Given the description of an element on the screen output the (x, y) to click on. 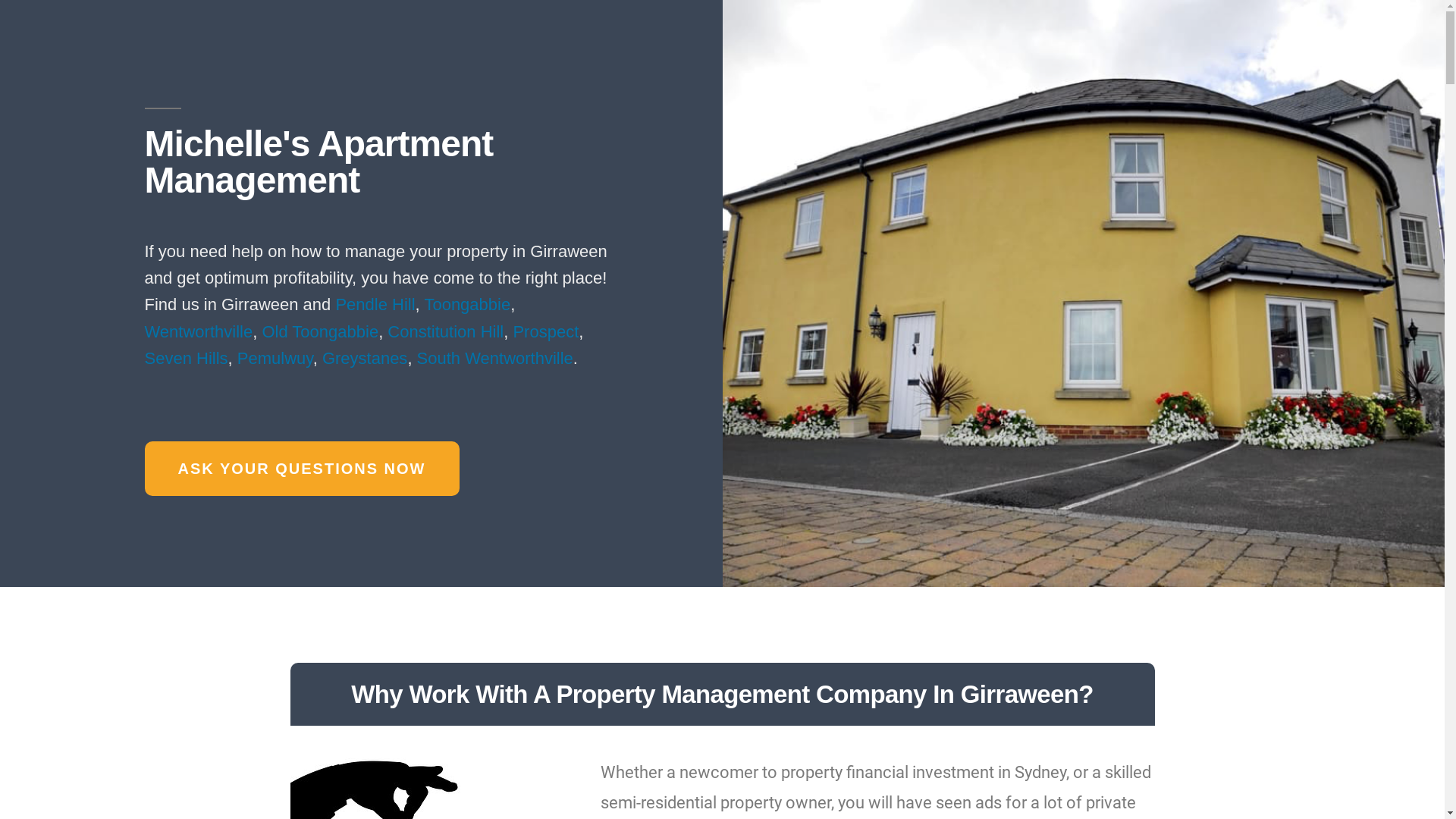
Wentworthville Element type: text (198, 331)
ASK YOUR QUESTIONS NOW Element type: text (301, 468)
Greystanes Element type: text (364, 357)
South Wentworthville Element type: text (495, 357)
Pendle Hill Element type: text (374, 303)
Seven Hills Element type: text (185, 357)
Toongabbie Element type: text (466, 303)
Old Toongabbie Element type: text (319, 331)
Pemulwuy Element type: text (275, 357)
Prospect Element type: text (545, 331)
Constitution Hill Element type: text (445, 331)
